Given the description of an element on the screen output the (x, y) to click on. 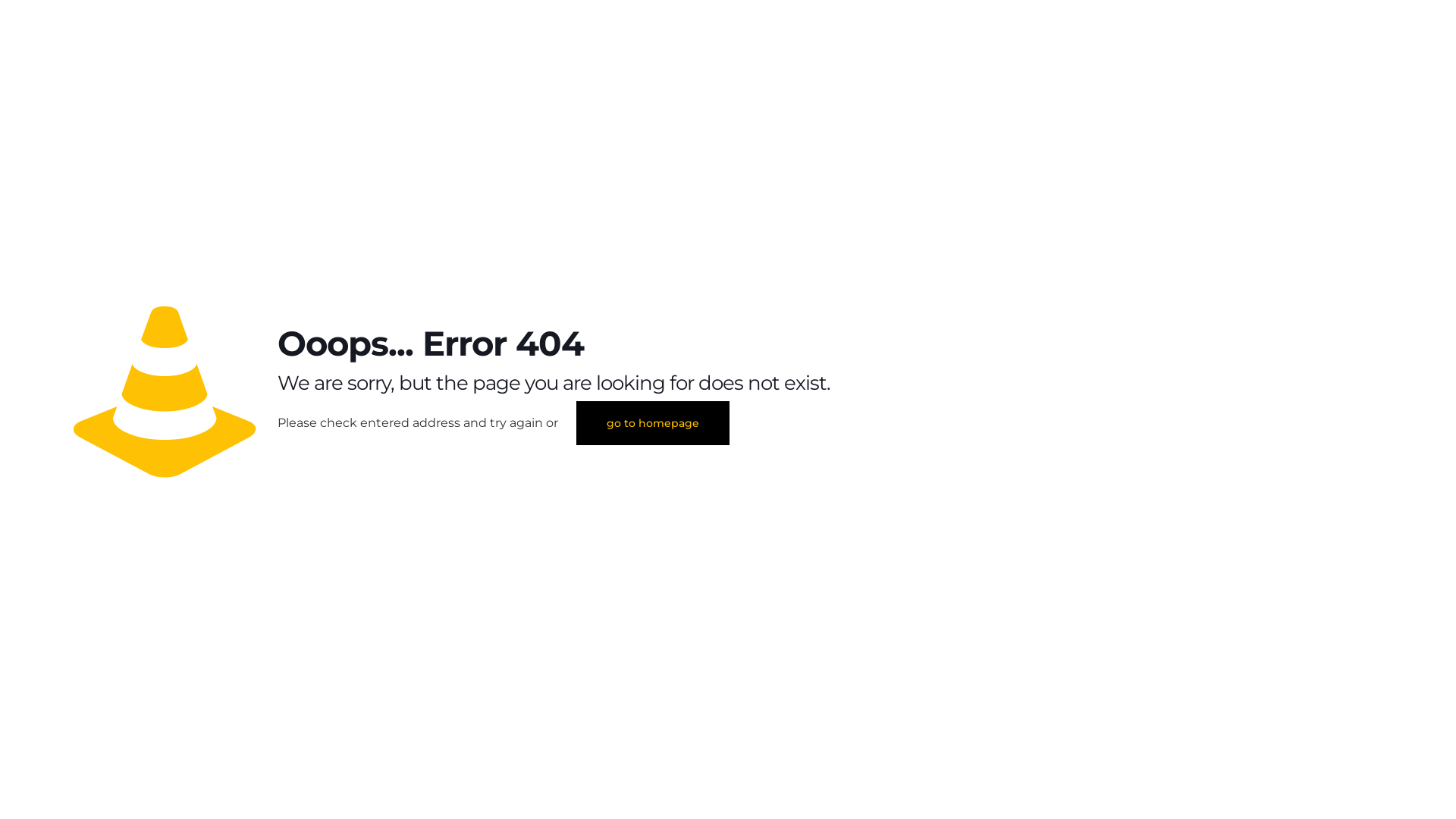
go to homepage Element type: text (652, 423)
